Given the description of an element on the screen output the (x, y) to click on. 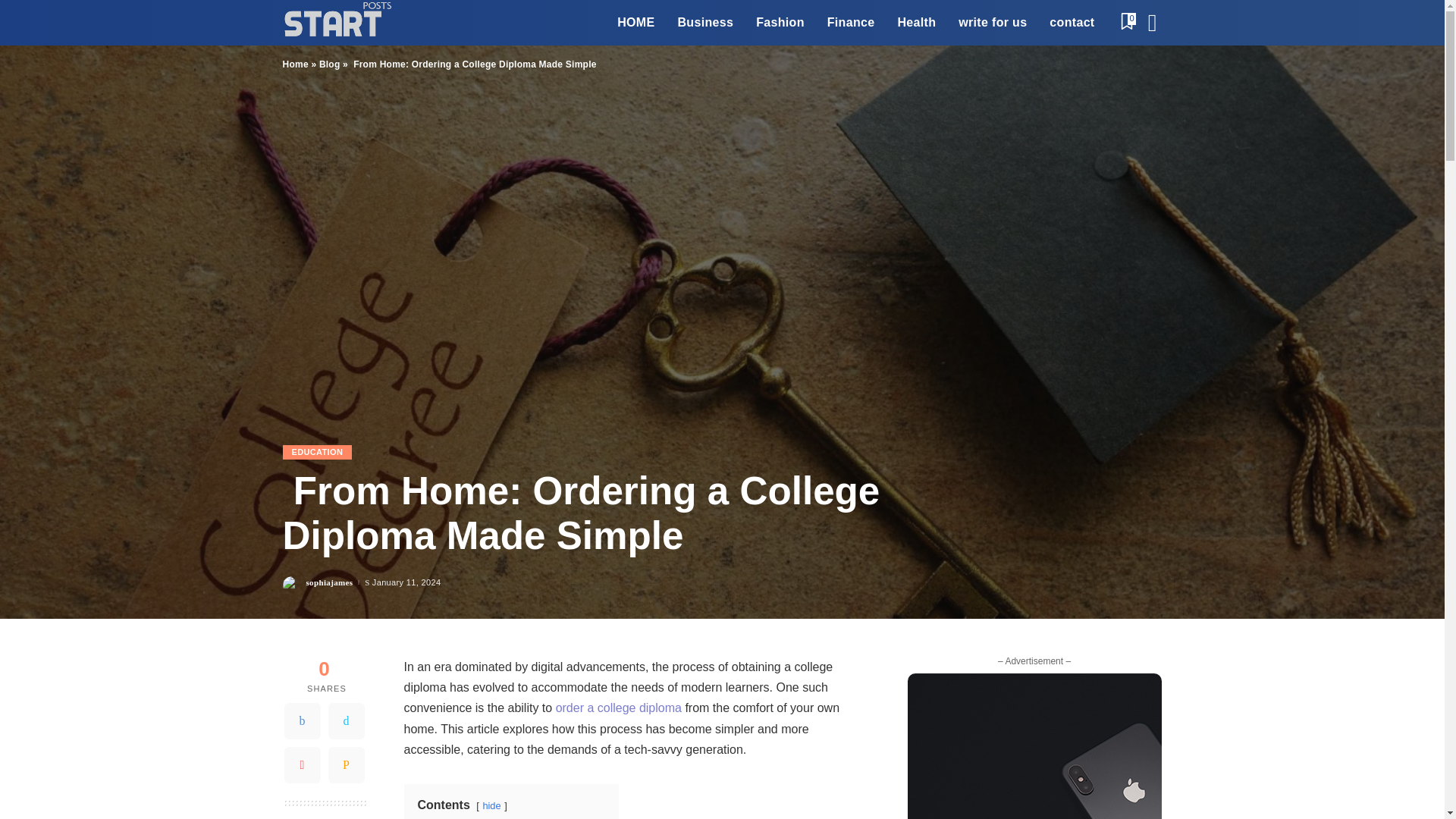
Search (1140, 65)
write for us (992, 22)
contact (1071, 22)
Fashion (779, 22)
Health (916, 22)
Finance (850, 22)
HOME (635, 22)
Business (704, 22)
Start Posts (336, 22)
